Given the description of an element on the screen output the (x, y) to click on. 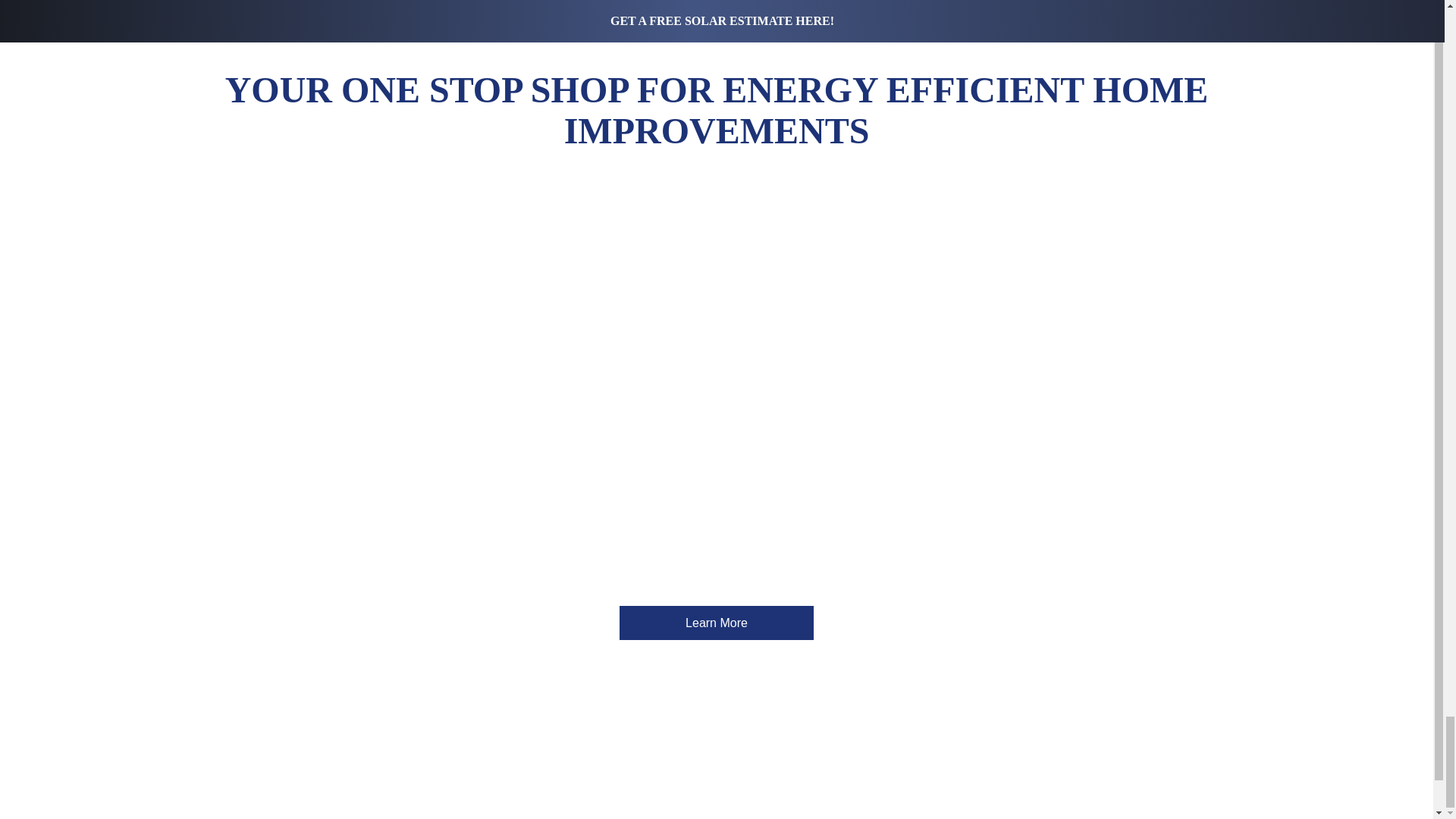
Learn More (716, 622)
